Given the description of an element on the screen output the (x, y) to click on. 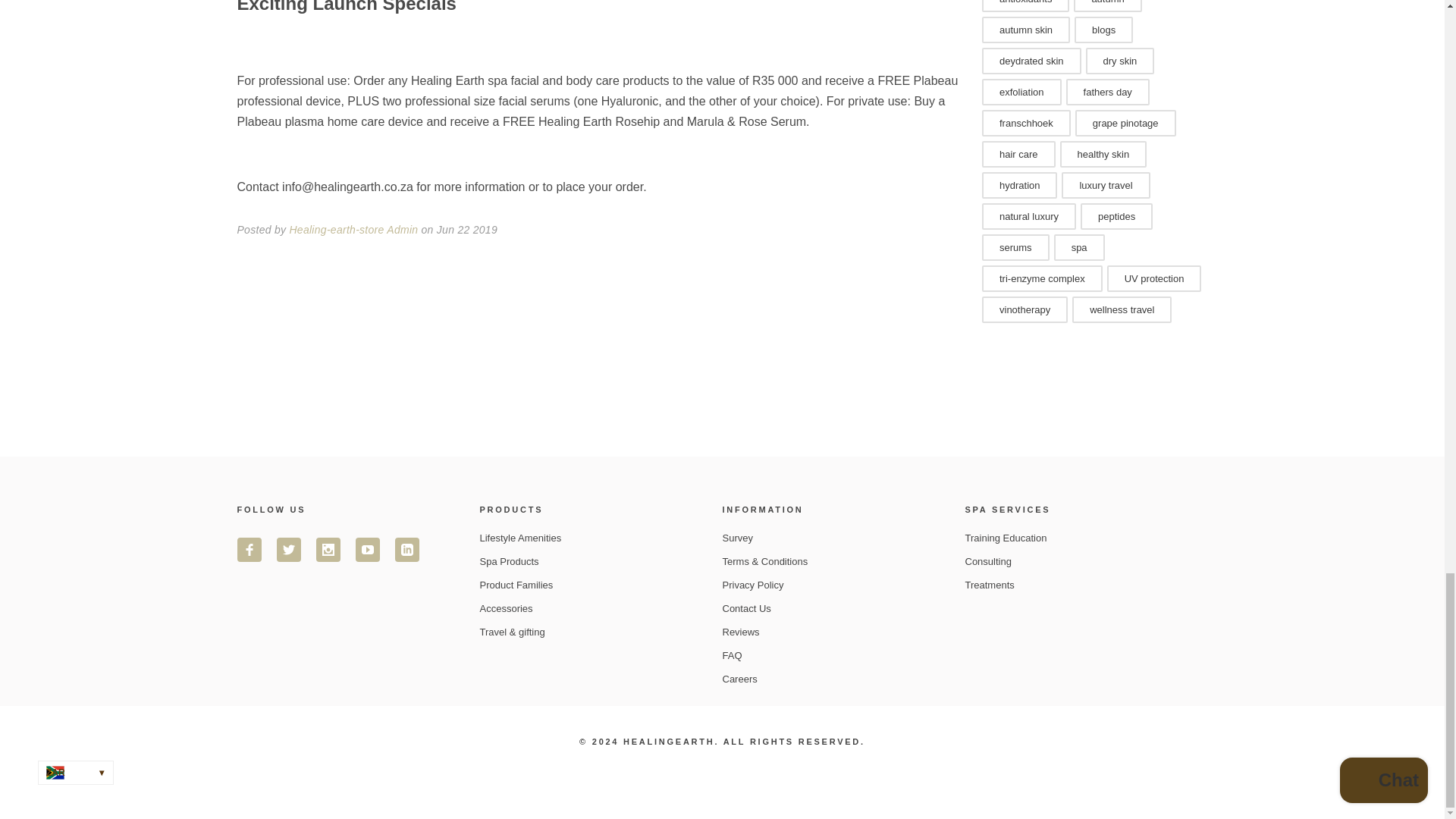
Healing Earth on Facebook (247, 549)
Healing Earth on Instagram (327, 549)
Healing Earth on YouTube (366, 549)
Healing Earth on Linkedin (406, 549)
Healing Earth on Twitter (287, 549)
